Given the description of an element on the screen output the (x, y) to click on. 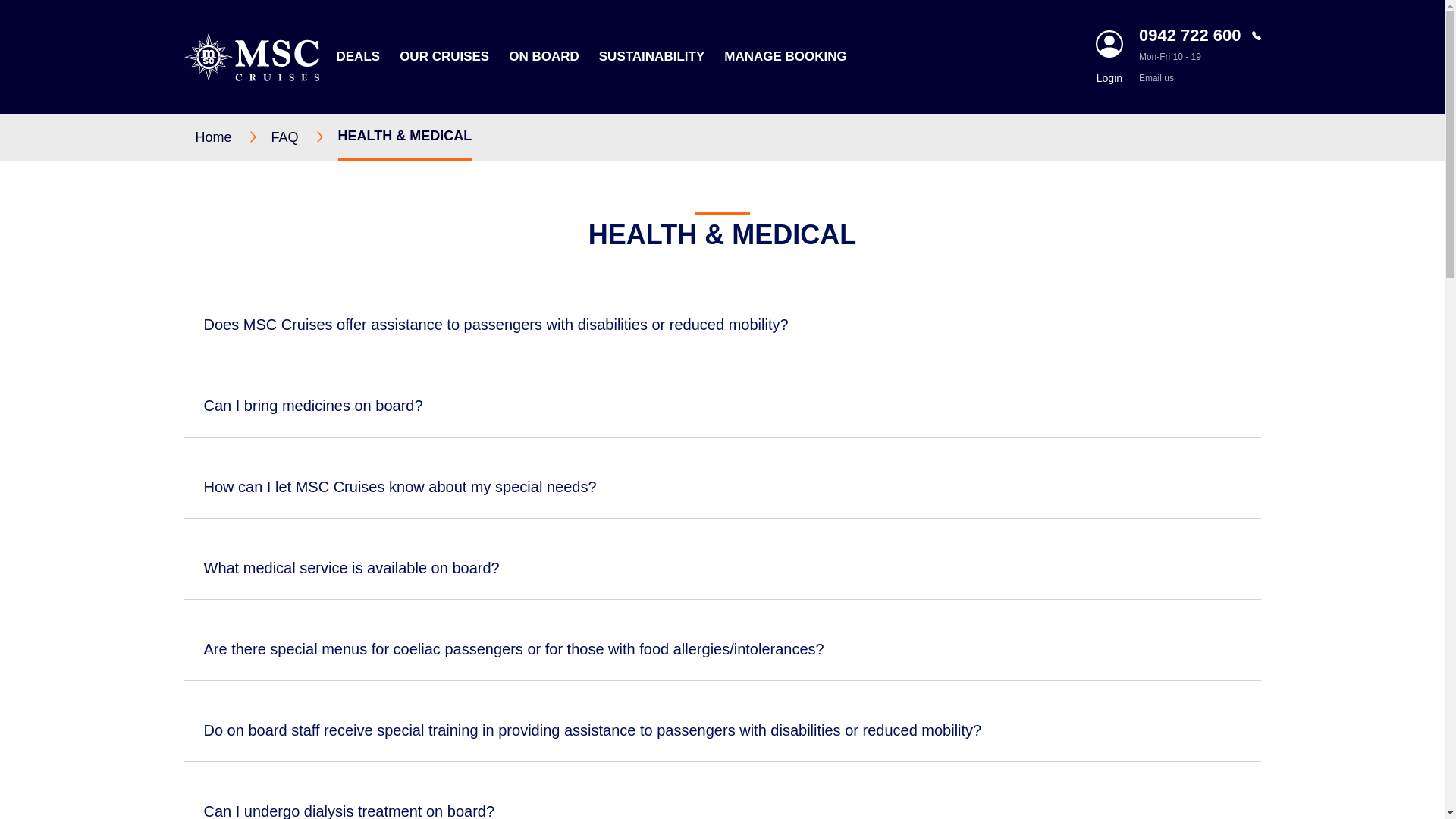
ON BOARD (543, 56)
Login (1109, 77)
DEALS (358, 56)
msc cruises logo (250, 56)
SUSTAINABILITY (651, 56)
OUR CRUISES (443, 56)
Home (232, 136)
Email us (1199, 77)
MANAGE BOOKING (785, 56)
Search (1071, 155)
